Given the description of an element on the screen output the (x, y) to click on. 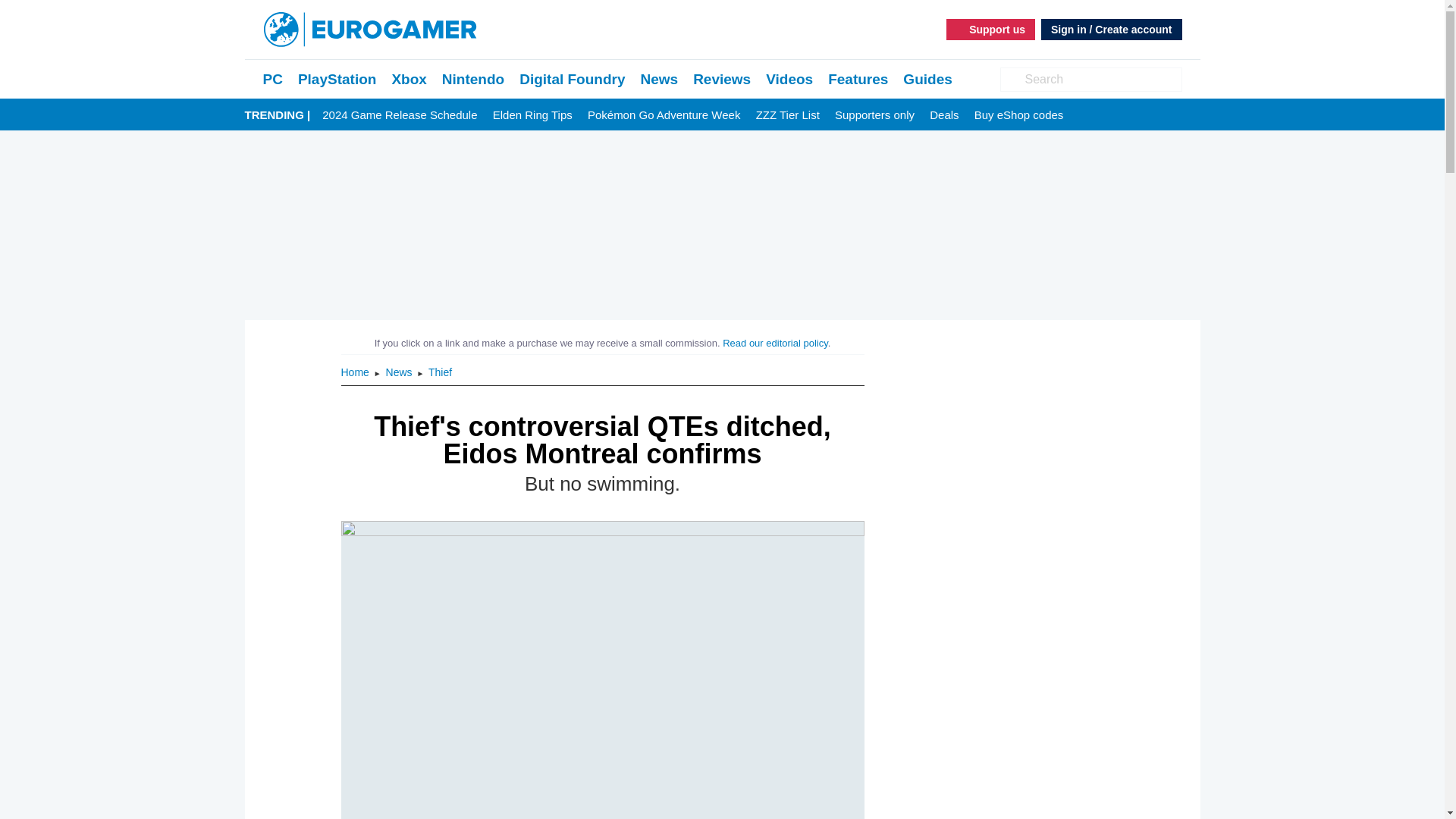
News (659, 78)
Xbox (408, 78)
Deals (944, 114)
Digital Foundry (571, 78)
Xbox (408, 78)
ZZZ Tier List (787, 114)
Features (858, 78)
Reviews (722, 78)
ZZZ Tier List (787, 114)
Home (356, 372)
